Given the description of an element on the screen output the (x, y) to click on. 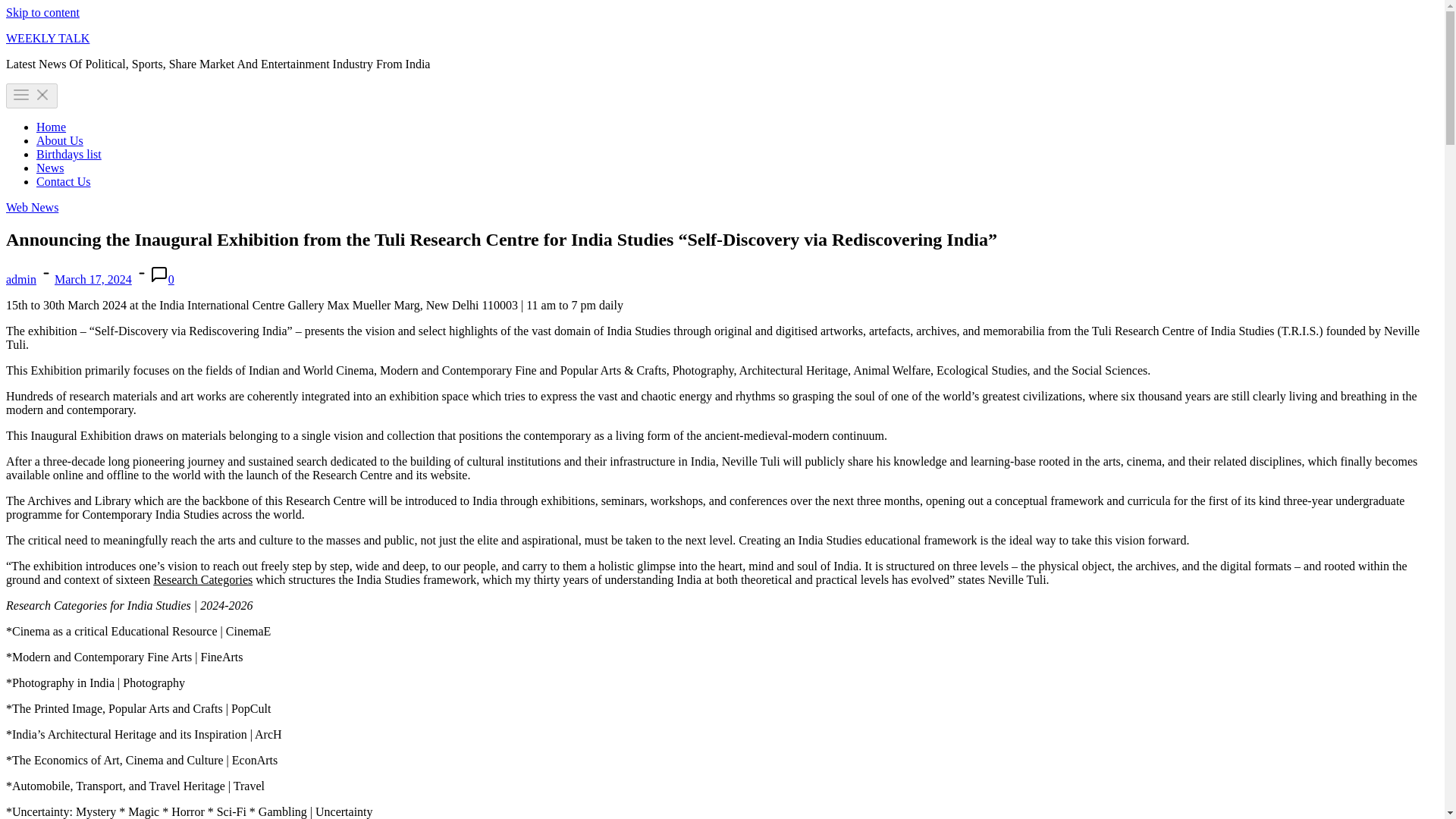
Web News (31, 206)
News (50, 167)
0 (171, 278)
Birthdays list (68, 154)
About Us (59, 140)
admin (20, 278)
March 17, 2024 (93, 278)
Home (50, 126)
Skip to content (42, 11)
WEEKLY TALK (46, 38)
Contact Us (63, 181)
